Given the description of an element on the screen output the (x, y) to click on. 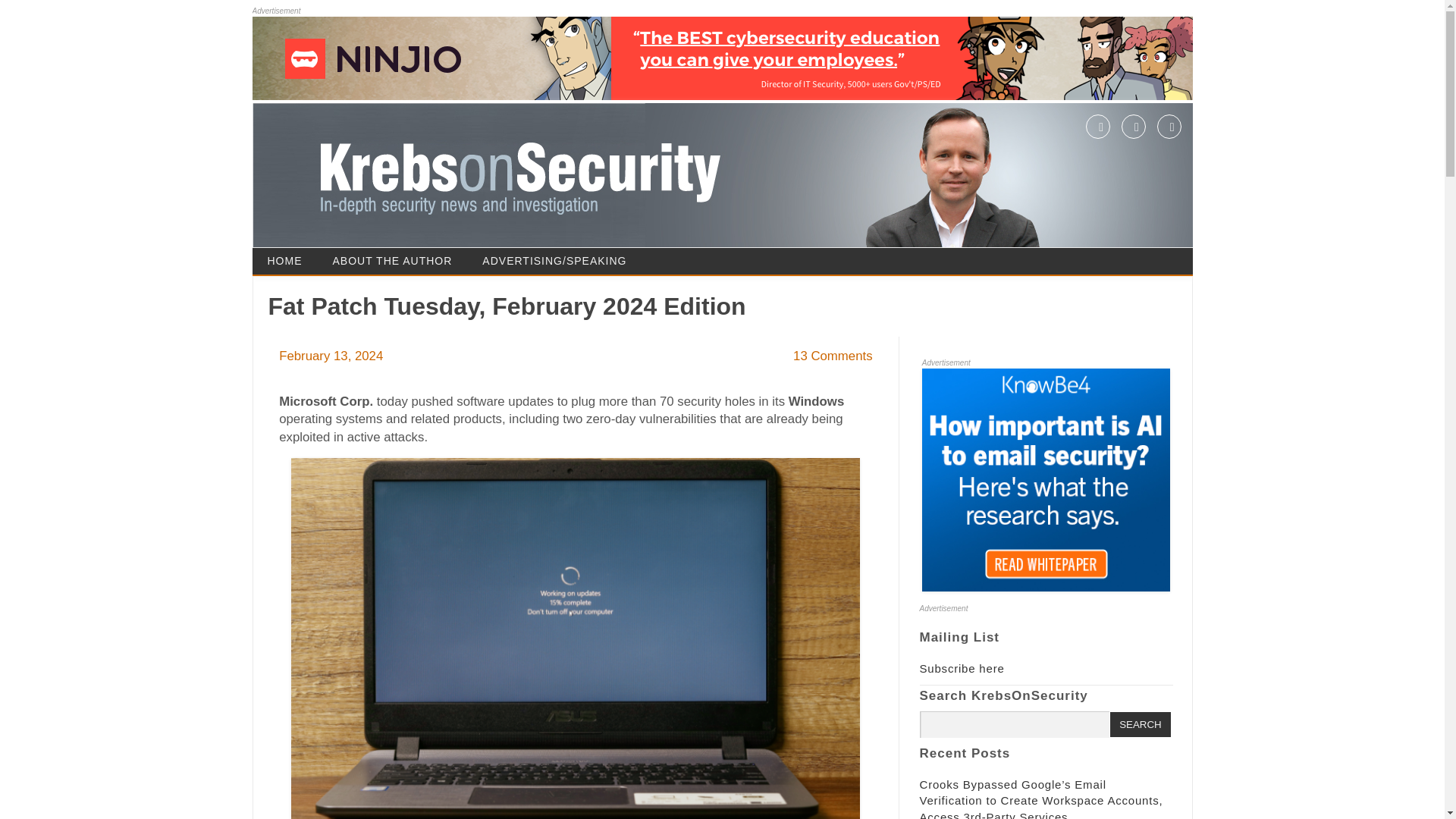
Skip to content (764, 253)
Search (1139, 724)
HOME (284, 261)
13 Comments (832, 355)
Skip to content (764, 253)
ABOUT THE AUTHOR (392, 261)
